Given the description of an element on the screen output the (x, y) to click on. 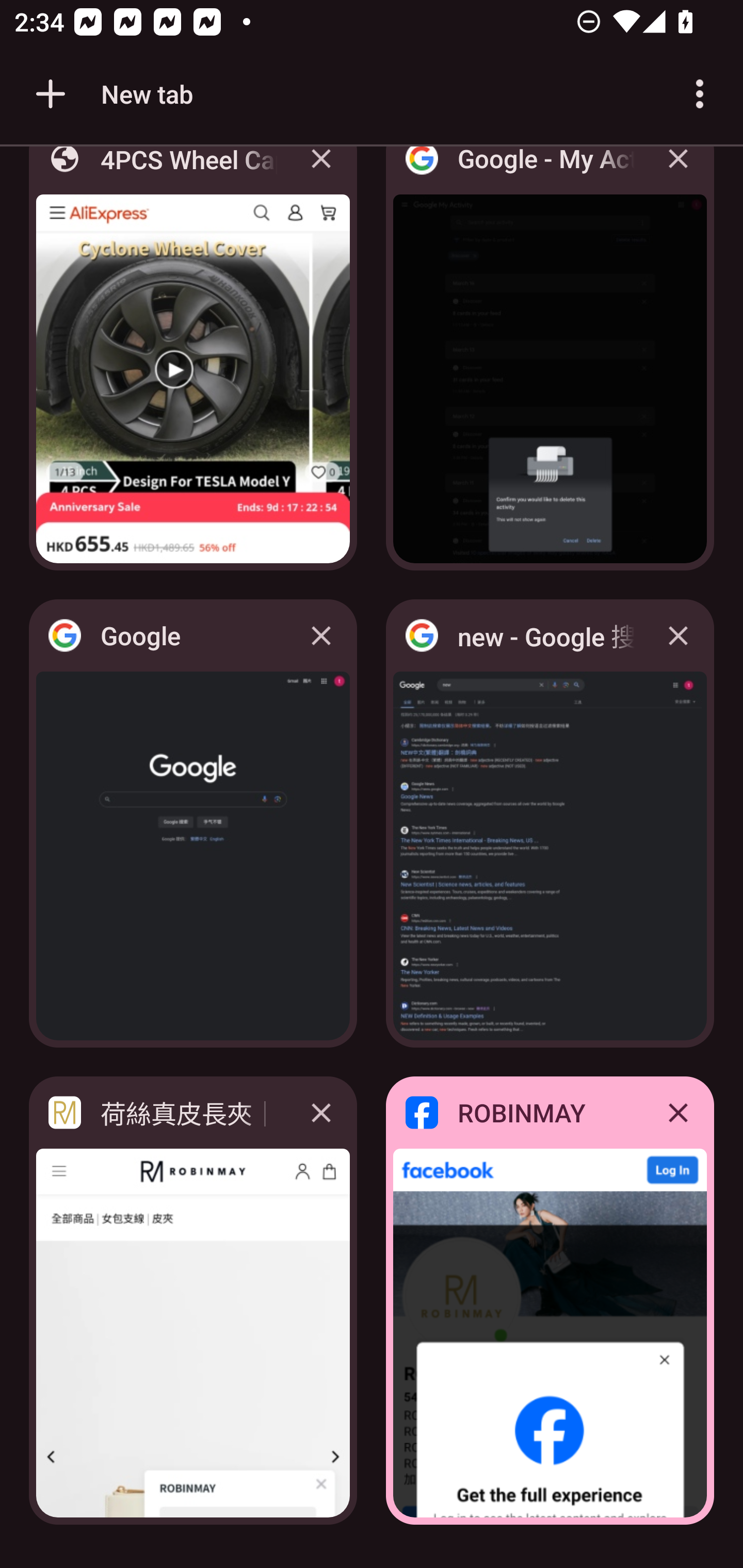
New tab (111, 93)
Customize and control Google Chrome (699, 93)
Close Google - My Activity tab (677, 173)
Google Google, tab Close Google tab (192, 822)
Close Google tab (320, 635)
Close new - Google 搜索 tab (677, 635)
ROBINMAY ROBINMAY, tab Close ROBINMAY tab (549, 1300)
Close 荷絲真皮長夾｜皮夾、配件｜長夾｜ROBINMAY 官方網站 (RM) tab (320, 1112)
Close ROBINMAY tab (677, 1112)
